Given the description of an element on the screen output the (x, y) to click on. 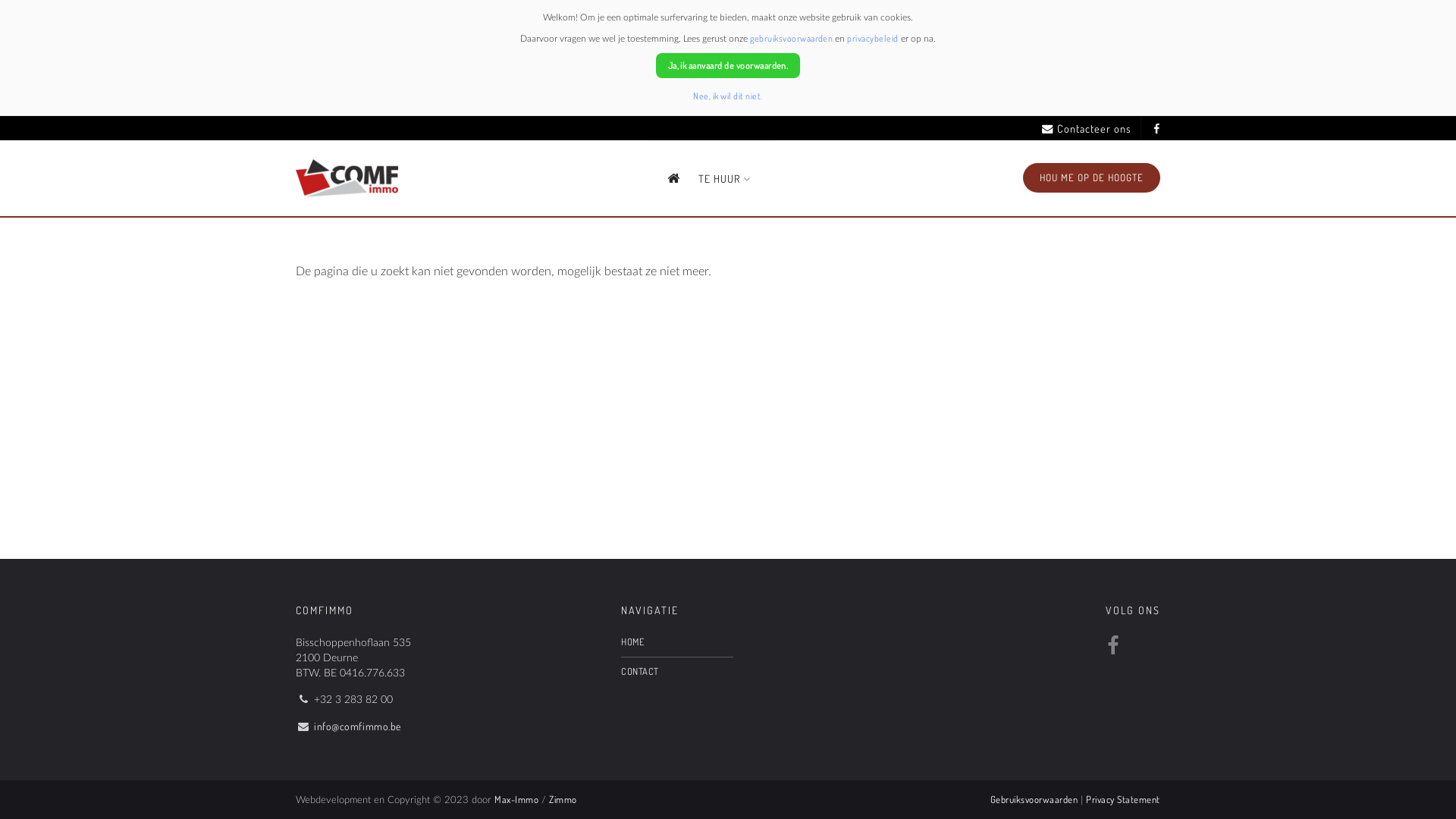
privacybeleid Element type: text (872, 37)
Ja, ik aanvaard de voorwaarden. Element type: text (727, 65)
HOME Element type: text (676, 642)
Privacy Statement Element type: text (1122, 799)
HOU ME OP DE HOOGTE Element type: text (1091, 177)
Contacteer ons Element type: text (1086, 128)
info@comfimmo.be Element type: text (357, 725)
Max-Immo Element type: text (516, 799)
TE HUUR Element type: text (724, 178)
gebruiksvoorwaarden Element type: text (790, 37)
Zimmo Element type: text (563, 799)
Gebruiksvoorwaarden Element type: text (1034, 799)
Nee, ik wil dit niet. Element type: text (727, 95)
CONTACT Element type: text (676, 671)
